Given the description of an element on the screen output the (x, y) to click on. 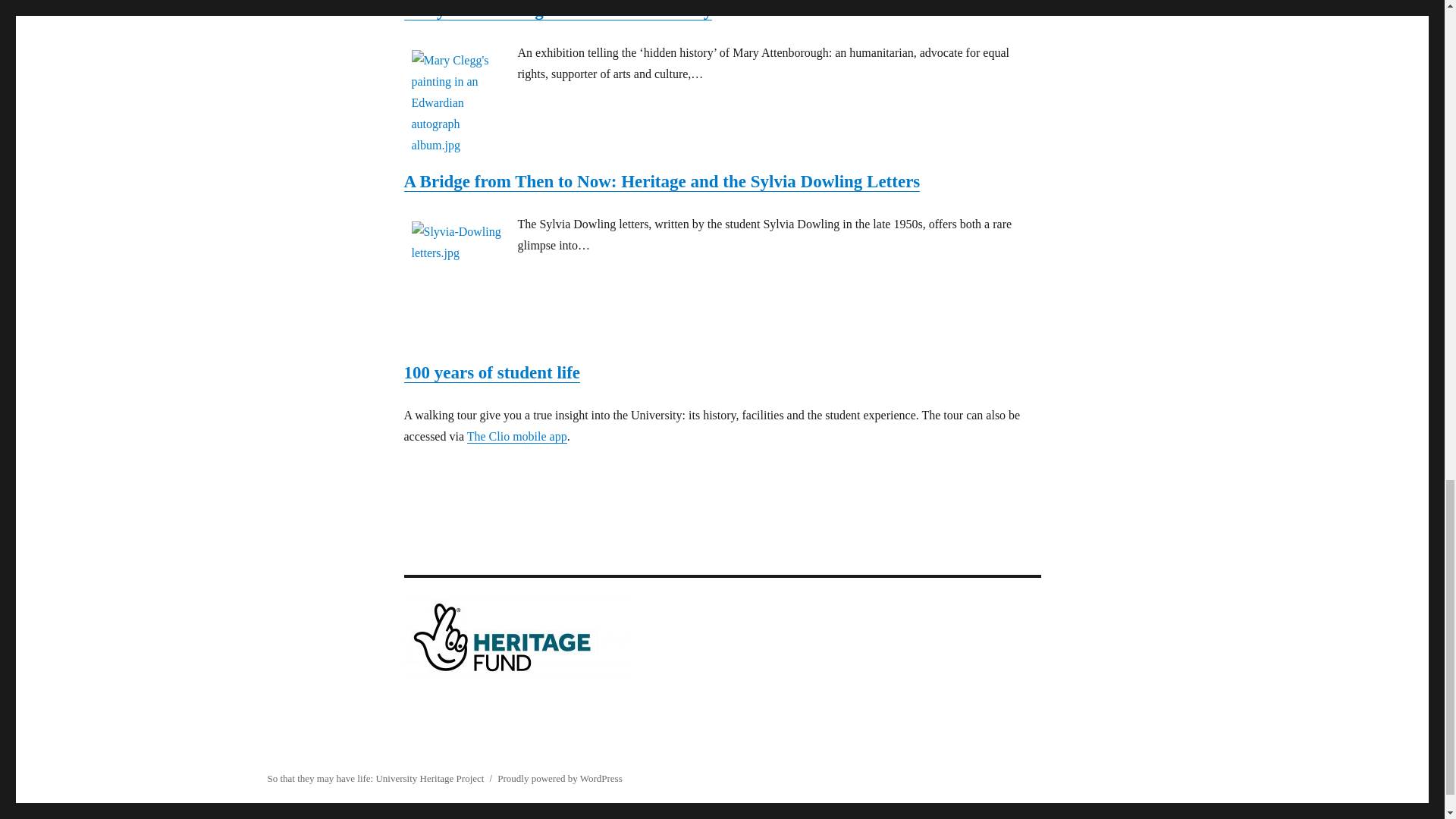
100 years of student life (491, 372)
Mary Clegg's painting in an Edwardian autograph album.jpg (459, 102)
Slyvia-Dowling letters.jpg (459, 242)
Clio homepage (517, 436)
